Given the description of an element on the screen output the (x, y) to click on. 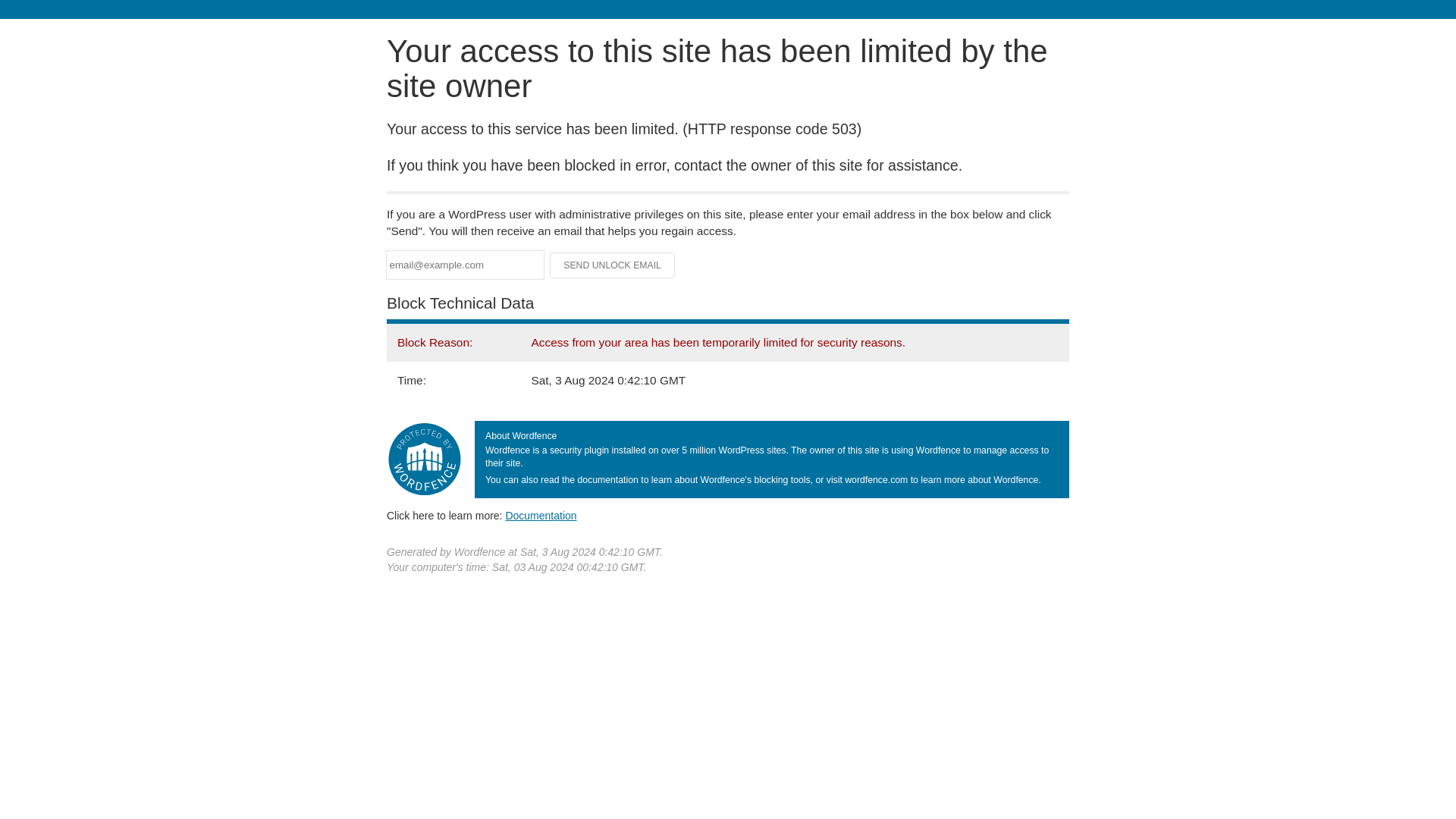
Send Unlock Email (612, 265)
Send Unlock Email (612, 265)
Documentation (540, 515)
